Given the description of an element on the screen output the (x, y) to click on. 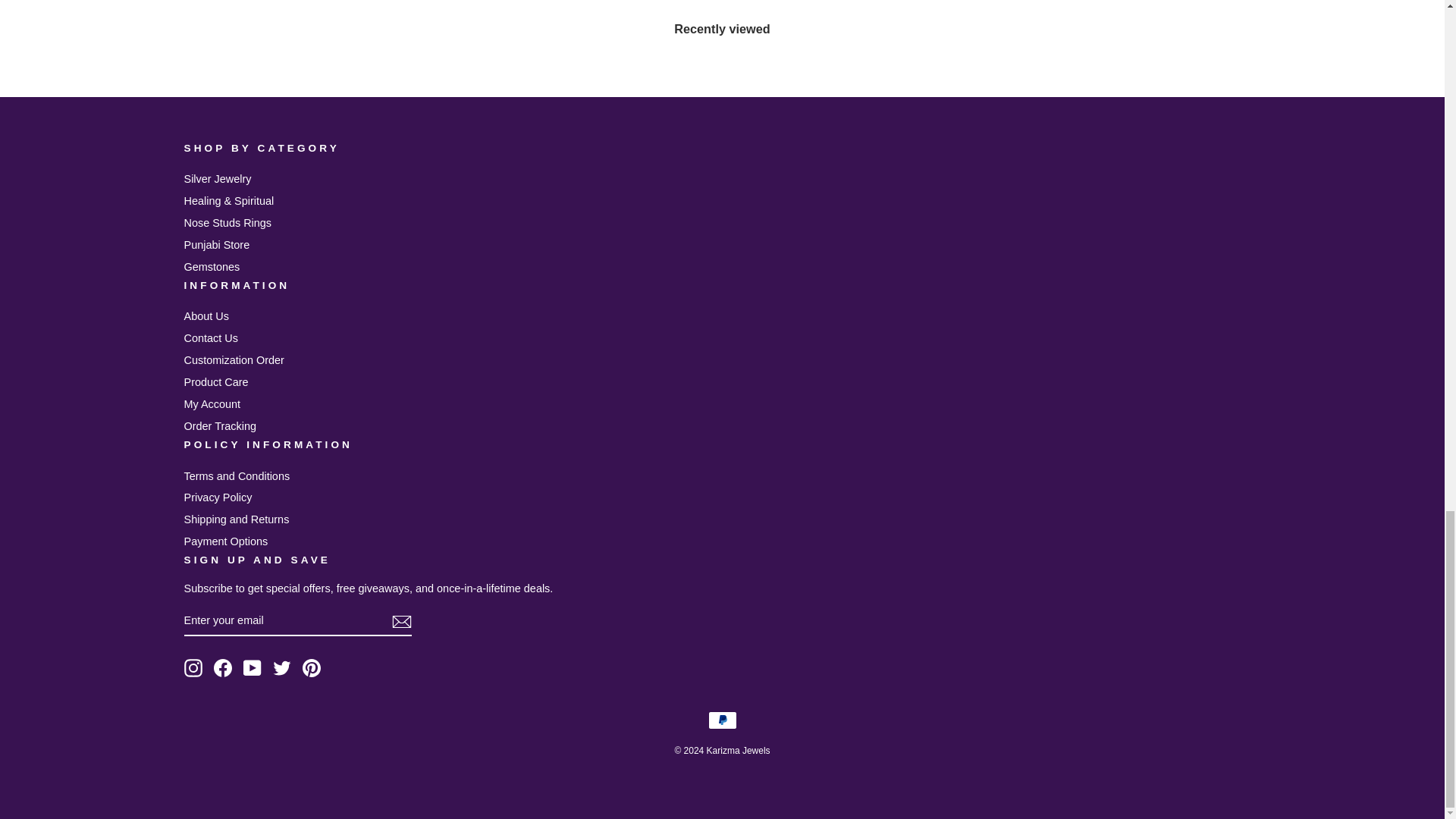
Karizma Jewels on Twitter (282, 668)
icon-email (400, 621)
Karizma Jewels on Facebook (222, 668)
Karizma Jewels on Instagram (192, 668)
Karizma Jewels on YouTube (251, 668)
instagram (192, 668)
Karizma Jewels on Pinterest (310, 668)
